Given the description of an element on the screen output the (x, y) to click on. 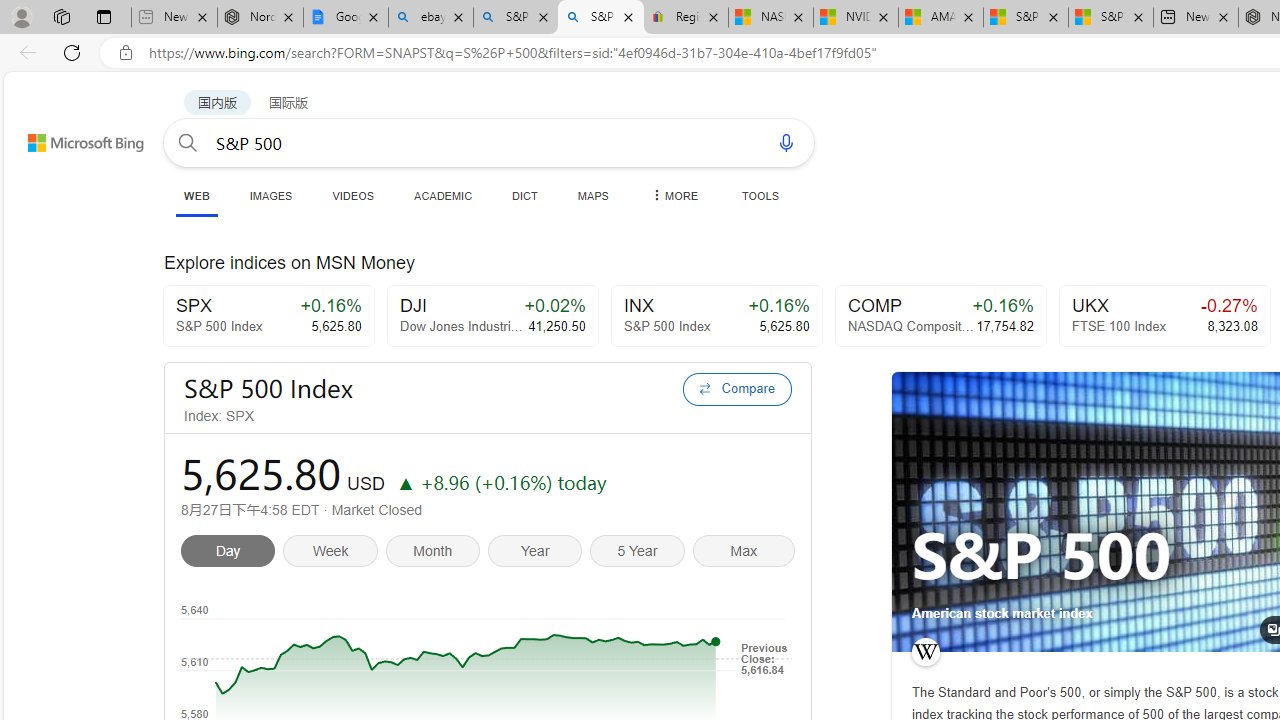
UKX -0.27% FTSE 100 Index 8,323.08 (1164, 315)
INX +0.16% S&P 500 Index 5,625.80 (716, 315)
Dropdown Menu (673, 195)
INX+0.16%S&P 500 Index5,625.80 (716, 315)
Register: Create a personal eBay account (685, 17)
Week (334, 553)
New tab - Sleeping (174, 17)
VIDEOS (352, 195)
DICT (525, 195)
Month (436, 553)
Compare (737, 387)
Day (232, 553)
